Given the description of an element on the screen output the (x, y) to click on. 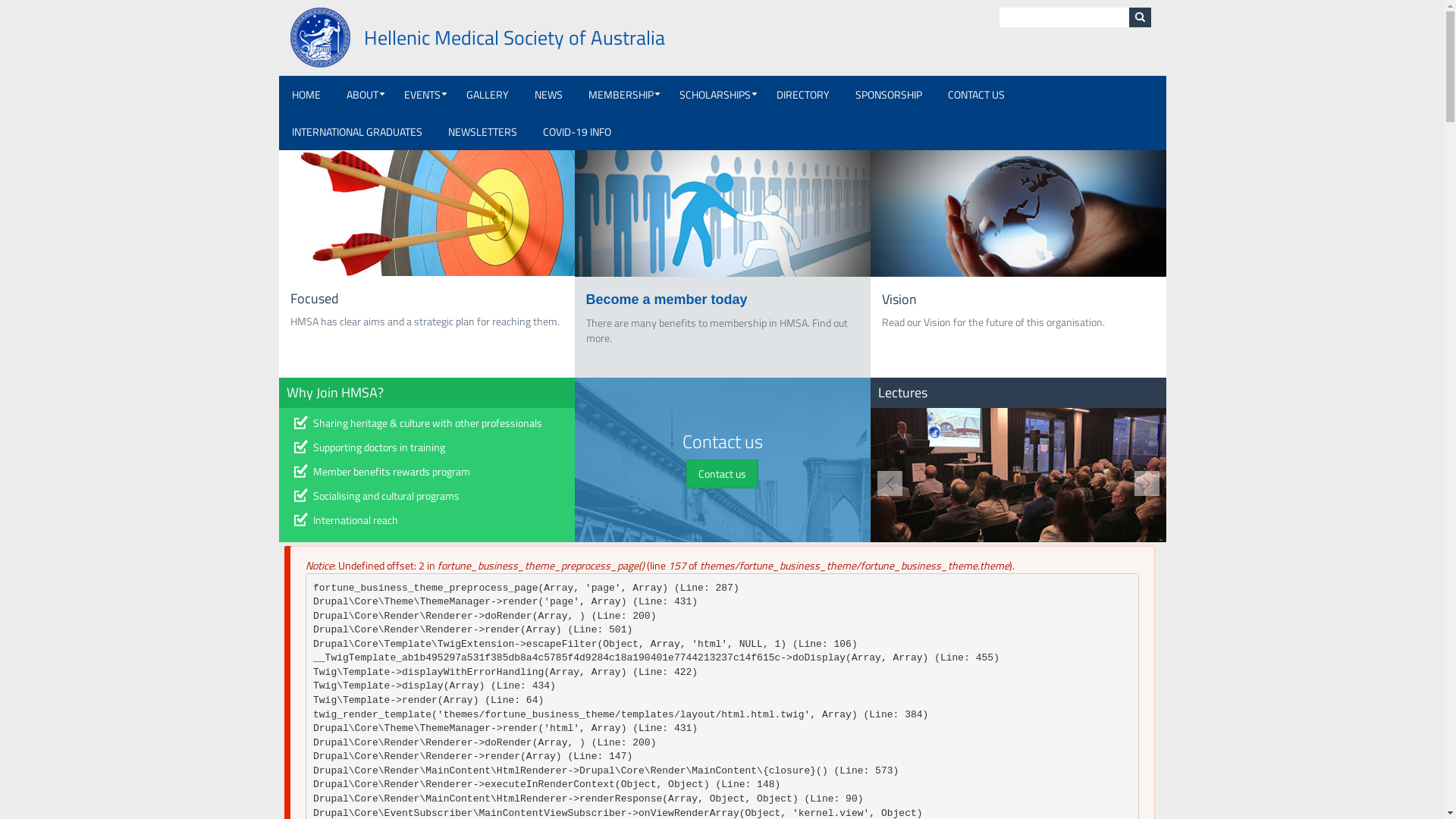
Become a member today Element type: text (665, 298)
HOME Element type: text (306, 93)
+
MEMBERSHIP Element type: text (619, 93)
+
EVENTS Element type: text (422, 93)
Search Element type: text (1139, 17)
CONTACT US Element type: text (975, 93)
GALLERY Element type: text (487, 93)
+
ABOUT Element type: text (362, 93)
Previous Element type: text (892, 482)
DIRECTORY Element type: text (801, 93)
Home Element type: hover (319, 36)
Skip to main content Element type: text (0, 0)
NEWS Element type: text (548, 93)
COVID-19 INFO Element type: text (576, 131)
Enter the terms you wish to search for. Element type: hover (1064, 17)
INTERNATIONAL GRADUATES Element type: text (357, 131)
Next Element type: text (1143, 482)
Hellenic Medical Society of Australia Element type: text (514, 37)
Contact us Element type: text (722, 473)
NEWSLETTERS Element type: text (482, 131)
SPONSORSHIP Element type: text (887, 93)
+
SCHOLARSHIPS Element type: text (713, 93)
